Given the description of an element on the screen output the (x, y) to click on. 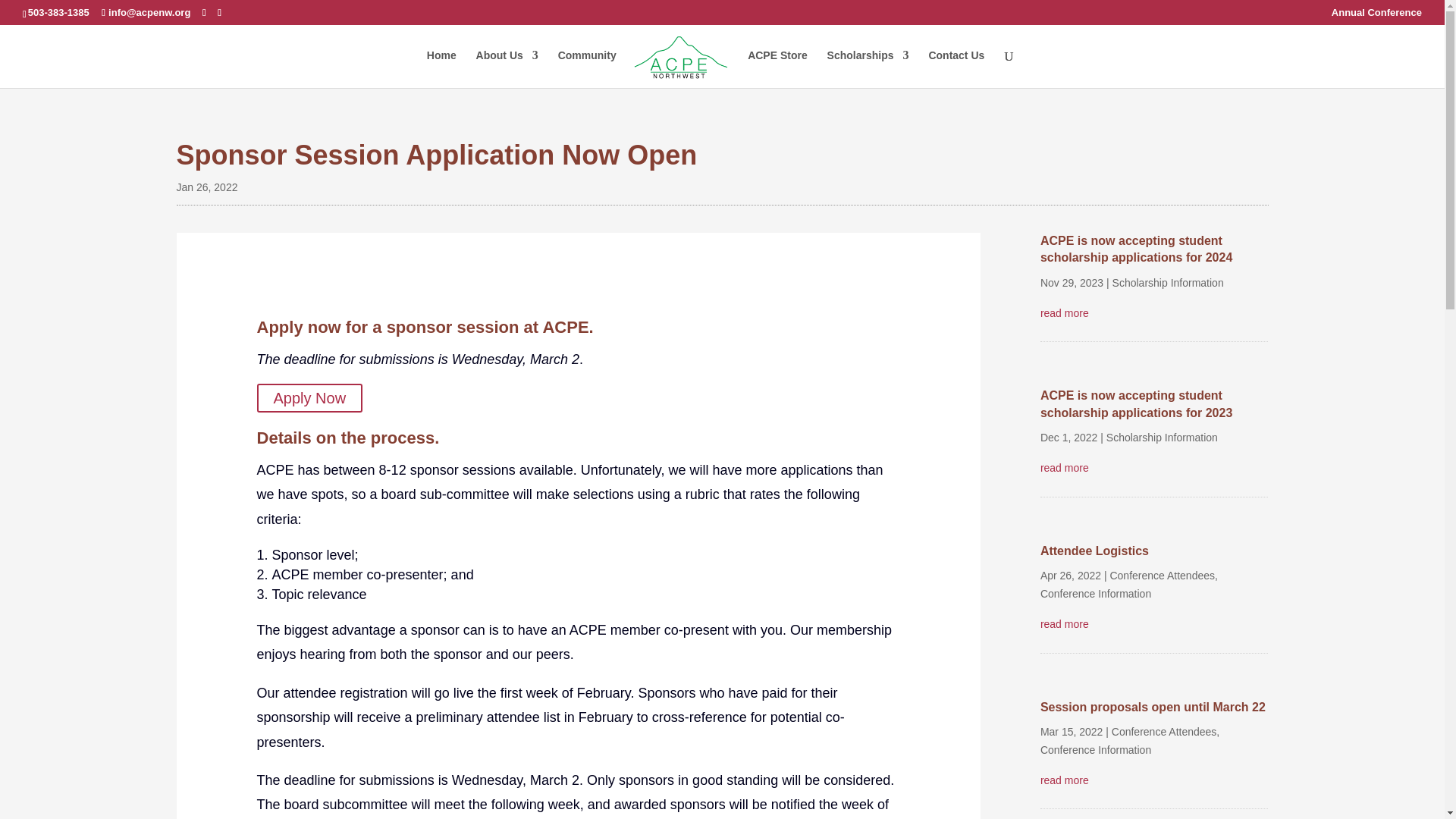
Attendee Logistics (1094, 550)
Community (586, 68)
About Us (507, 68)
Contact Us (956, 68)
read more (1154, 468)
Apply Now (309, 398)
Scholarship Information (1161, 437)
Annual Conference (1377, 16)
Scholarship Information (1168, 282)
read more (1154, 313)
Scholarships (867, 68)
ACPE Store (778, 68)
